Given the description of an element on the screen output the (x, y) to click on. 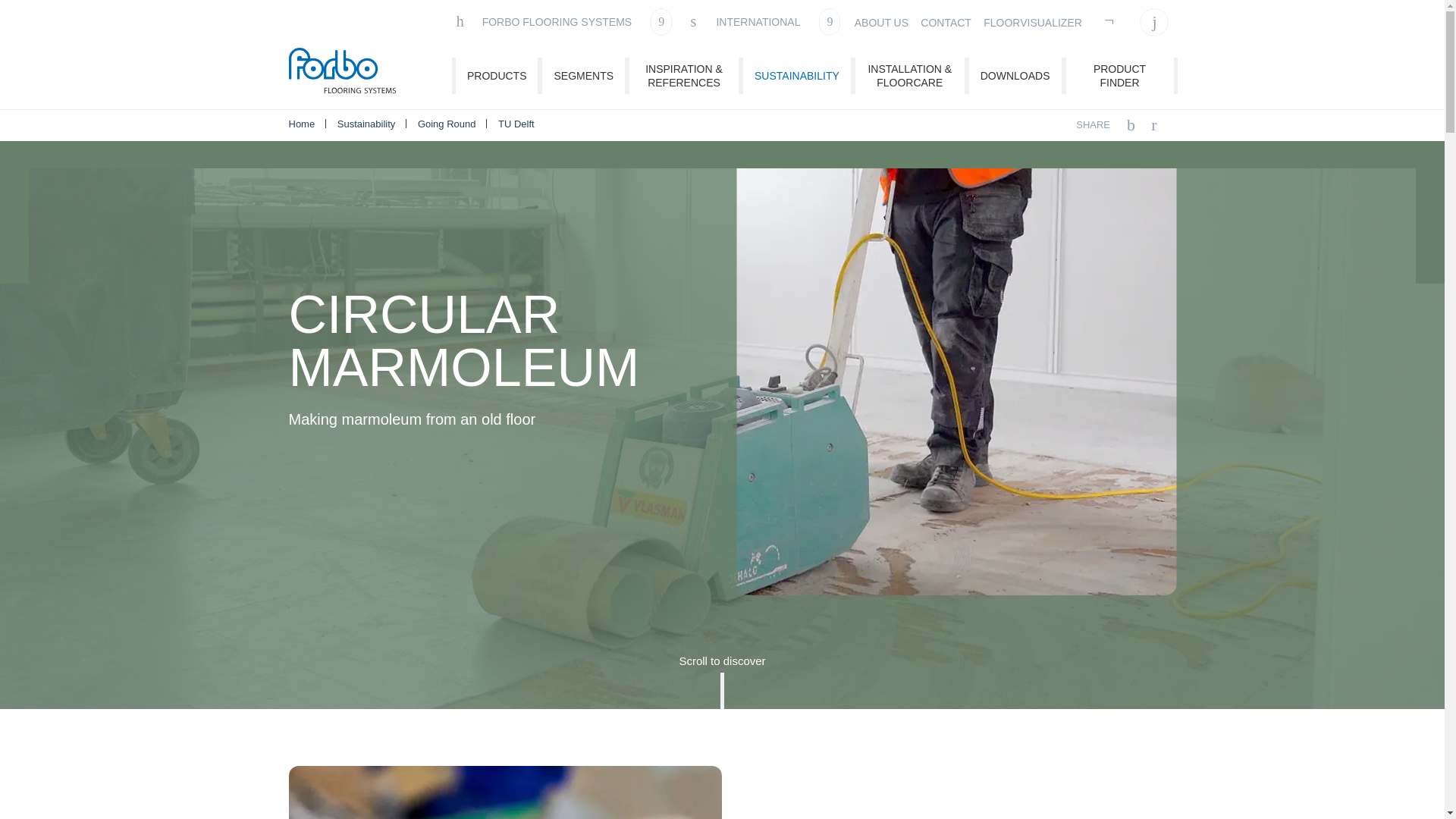
FLOORVISUALIZER (1032, 23)
PRODUCTS (497, 75)
CONTACT (945, 23)
International (763, 22)
Division (562, 22)
Sample ordering (1110, 22)
DOWNLOADS (1014, 75)
ABOUT US (881, 23)
Going Round (448, 123)
